Given the description of an element on the screen output the (x, y) to click on. 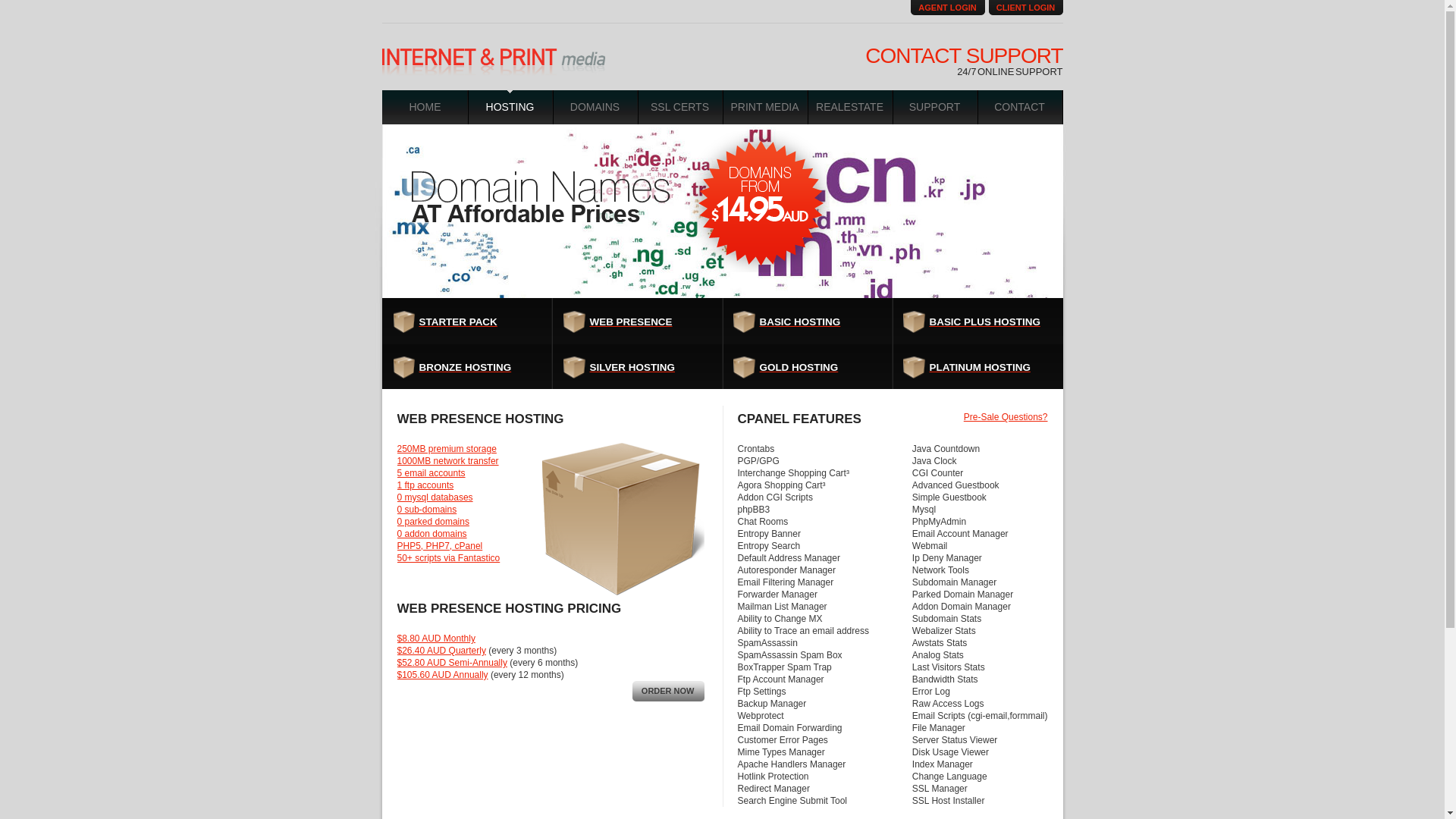
SILVER HOSTING Element type: text (632, 367)
SSL CERTS Element type: text (679, 107)
1 ftp accounts Element type: text (425, 485)
$105.60 AUD Annually Element type: text (442, 674)
0 mysql databases Element type: text (435, 497)
GOLD HOSTING Element type: text (802, 367)
HOME Element type: text (425, 107)
PRINT MEDIA Element type: text (764, 107)
0 parked domains Element type: text (433, 521)
$52.80 AUD Semi-Annually Element type: text (452, 662)
1000MB network transfer Element type: text (447, 460)
BASIC HOSTING Element type: text (802, 322)
AGENT LOGIN Element type: text (947, 7)
0 addon domains Element type: text (432, 533)
DOMAINS Element type: text (595, 107)
5 email accounts Element type: text (431, 472)
250MB premium storage Element type: text (446, 448)
HOSTING Element type: text (510, 107)
PHP5, PHP7, cPanel Element type: text (440, 545)
CONTACT Element type: text (1019, 107)
0 sub-domains Element type: text (427, 509)
50+ scripts via Fantastico Element type: text (448, 557)
REALESTATE Element type: text (849, 107)
Pre-Sale Questions? Element type: text (1005, 414)
CLIENT LOGIN Element type: text (1025, 7)
$26.40 AUD Quarterly Element type: text (441, 650)
BASIC PLUS HOSTING Element type: text (972, 322)
PLATINUM HOSTING Element type: text (972, 367)
SUPPORT Element type: text (934, 107)
ORDER NOW Element type: text (668, 690)
$8.80 AUD Monthly Element type: text (436, 638)
WEB PRESENCE Element type: text (632, 322)
STARTER PACK Element type: text (462, 322)
BRONZE HOSTING Element type: text (462, 367)
CONTACT SUPPORT Element type: text (963, 55)
